Given the description of an element on the screen output the (x, y) to click on. 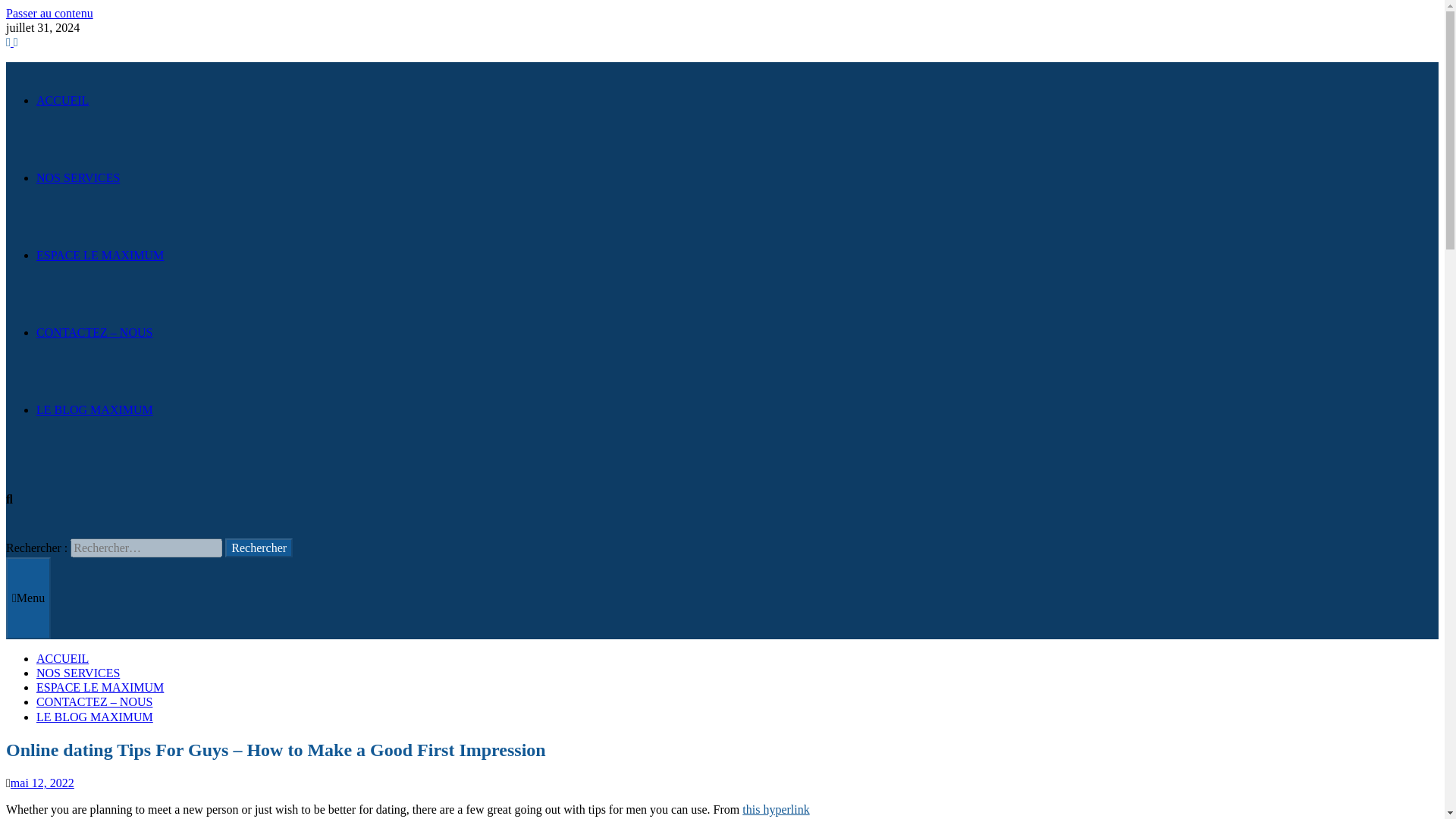
mai 12, 2022 (42, 782)
Rechercher (258, 547)
ACCUEIL (62, 658)
Rechercher (258, 547)
this hyperlink (775, 809)
ACCUEIL (62, 100)
NOS SERVICES (77, 672)
ESPACE LE MAXIMUM (99, 686)
ESPACE LE MAXIMUM (99, 254)
Rechercher (258, 547)
Passer au contenu (49, 12)
NOS SERVICES (77, 177)
LE BLOG MAXIMUM (94, 409)
LE BLOG MAXIMUM (94, 716)
